Given the description of an element on the screen output the (x, y) to click on. 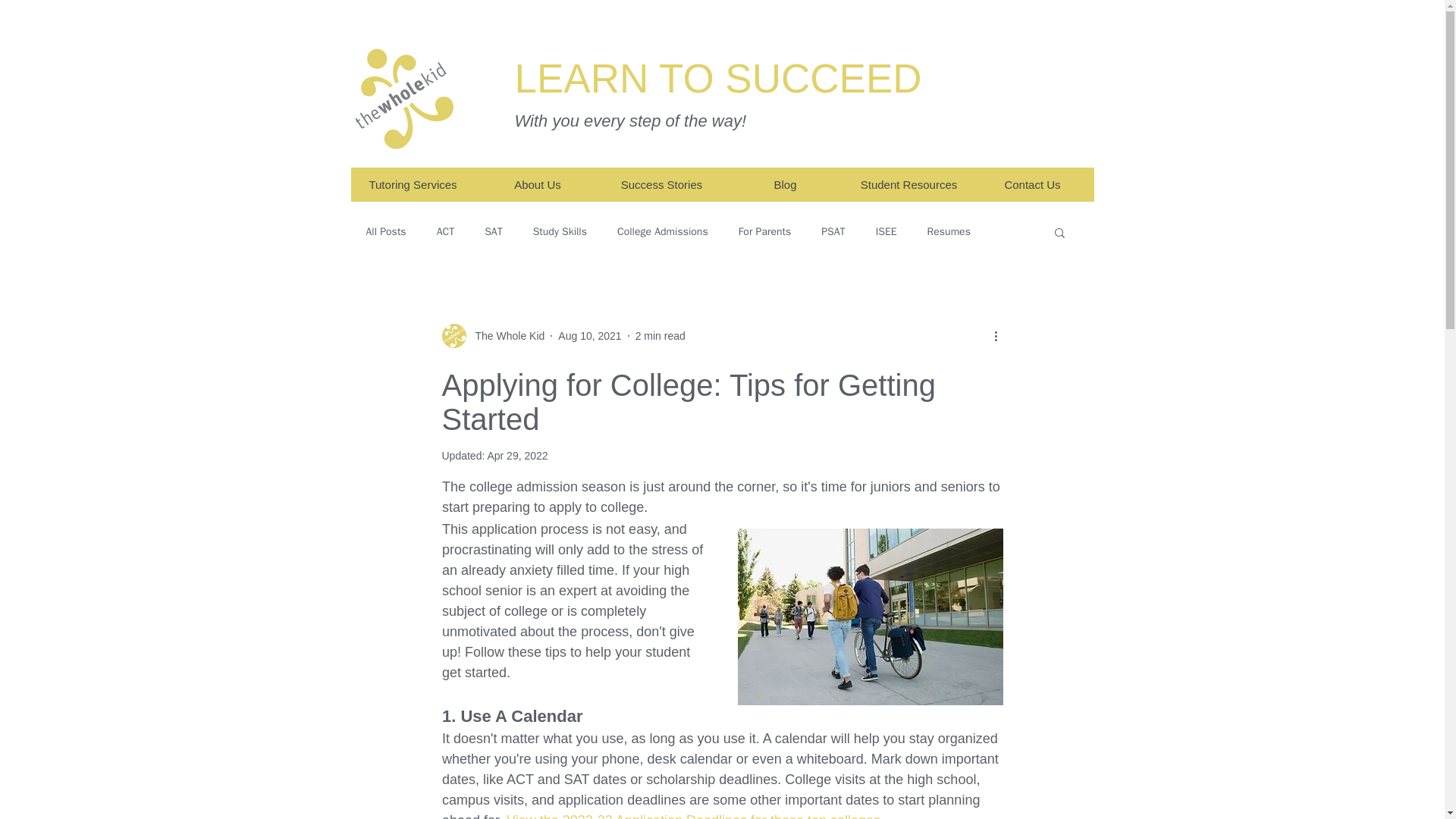
Apr 29, 2022 (516, 455)
ACT (445, 232)
The Whole Kid (492, 335)
Student Resources (907, 184)
Success Stories (660, 184)
The WholeKid (403, 98)
Contact Us (1032, 184)
Study Skills (559, 232)
Resumes (949, 232)
ISEE (886, 232)
Aug 10, 2021 (589, 335)
2 min read (659, 335)
Blog (785, 184)
PSAT (832, 232)
